Given the description of an element on the screen output the (x, y) to click on. 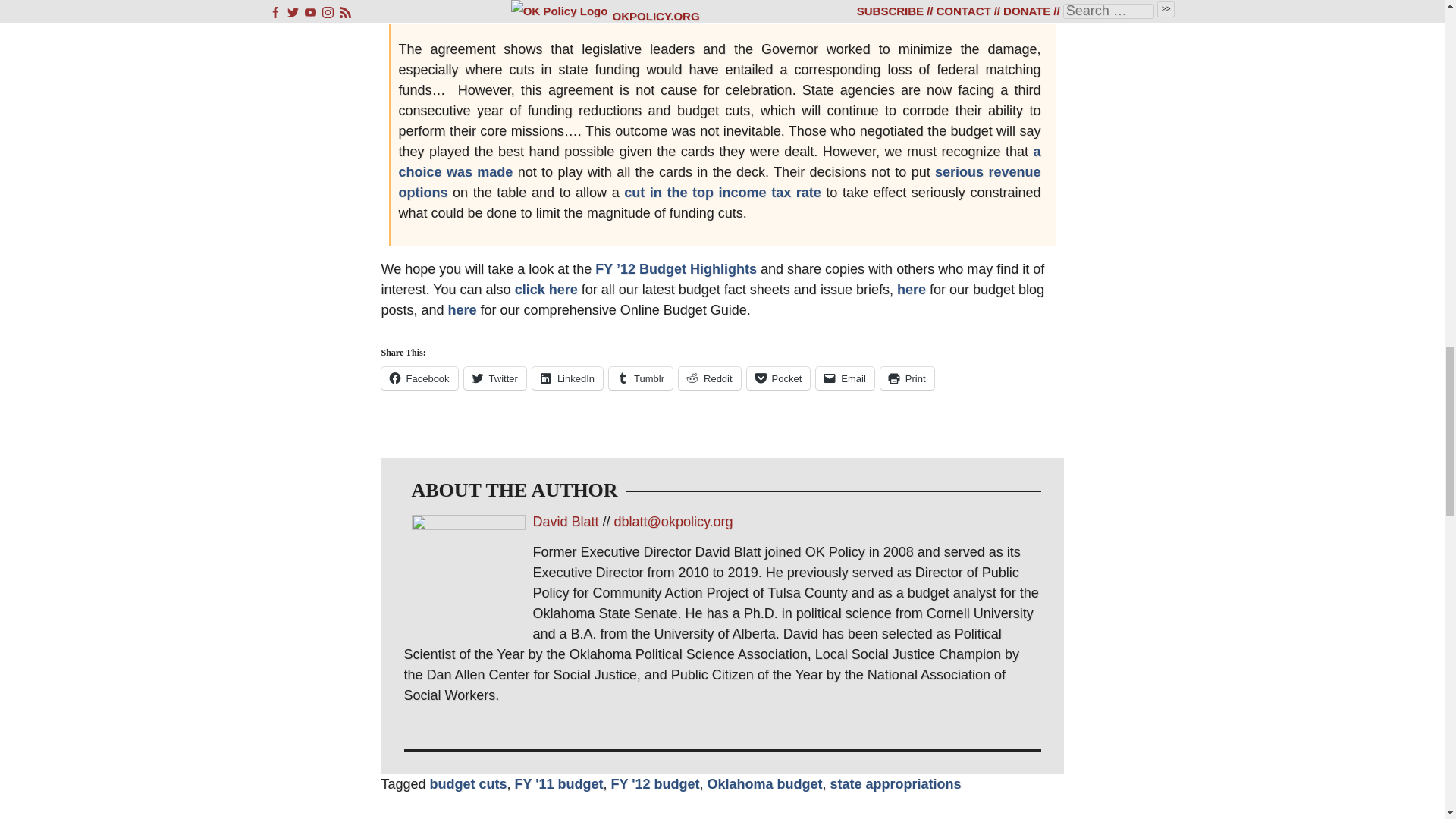
Click to email a link to a friend (845, 377)
Click to share on Reddit (709, 377)
Click to share on LinkedIn (567, 377)
Click to share on Twitter (494, 377)
Click to share on Facebook (418, 377)
Click to share on Tumblr (640, 377)
Click to share on Pocket (778, 377)
Click to print (907, 377)
